Given the description of an element on the screen output the (x, y) to click on. 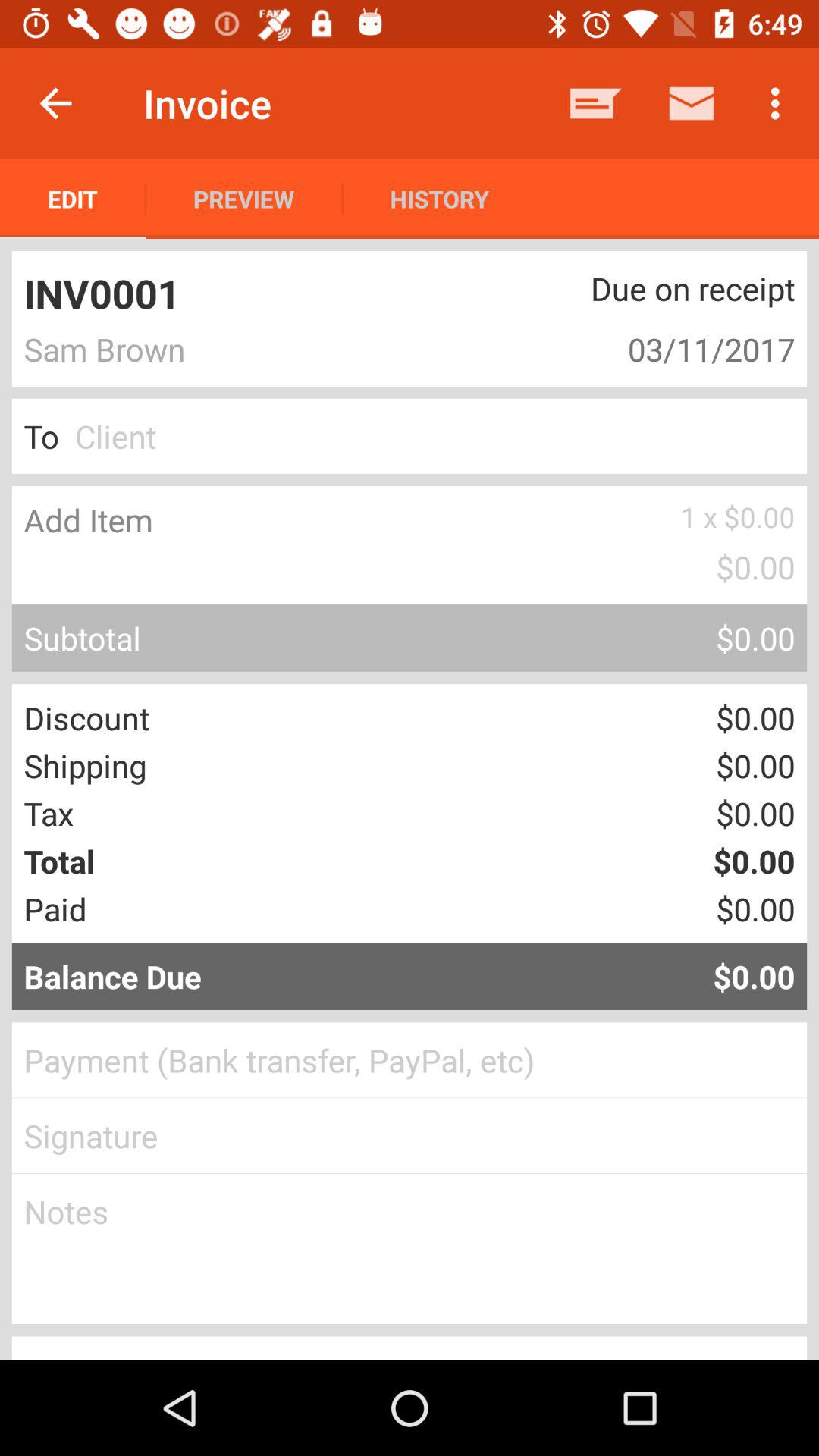
click item to the left of history app (243, 198)
